Given the description of an element on the screen output the (x, y) to click on. 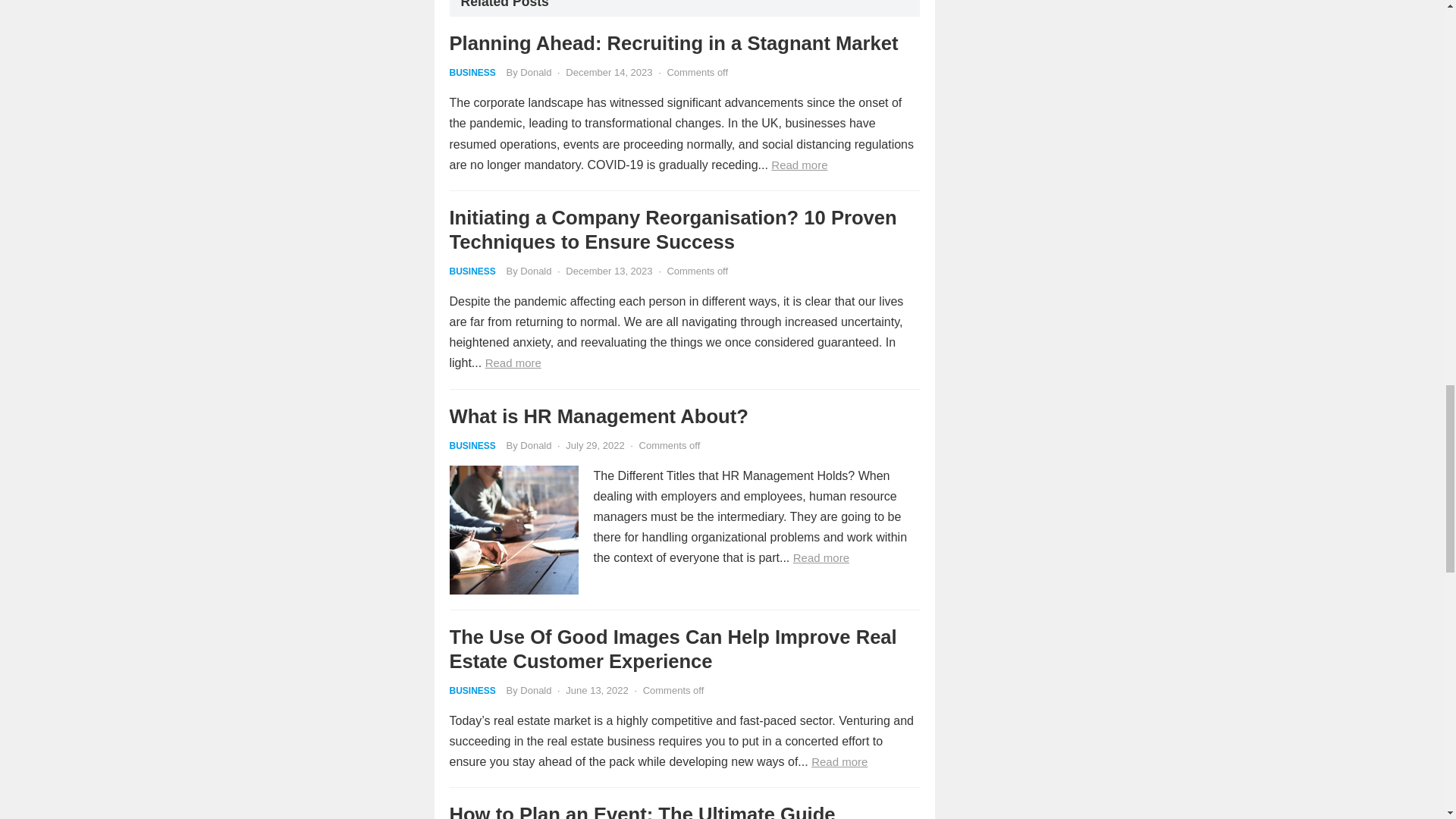
Posts by Donald (535, 270)
Posts by Donald (535, 71)
Posts by Donald (535, 690)
Posts by Donald (535, 445)
Planning Ahead: Recruiting in a Stagnant Market (673, 43)
